Given the description of an element on the screen output the (x, y) to click on. 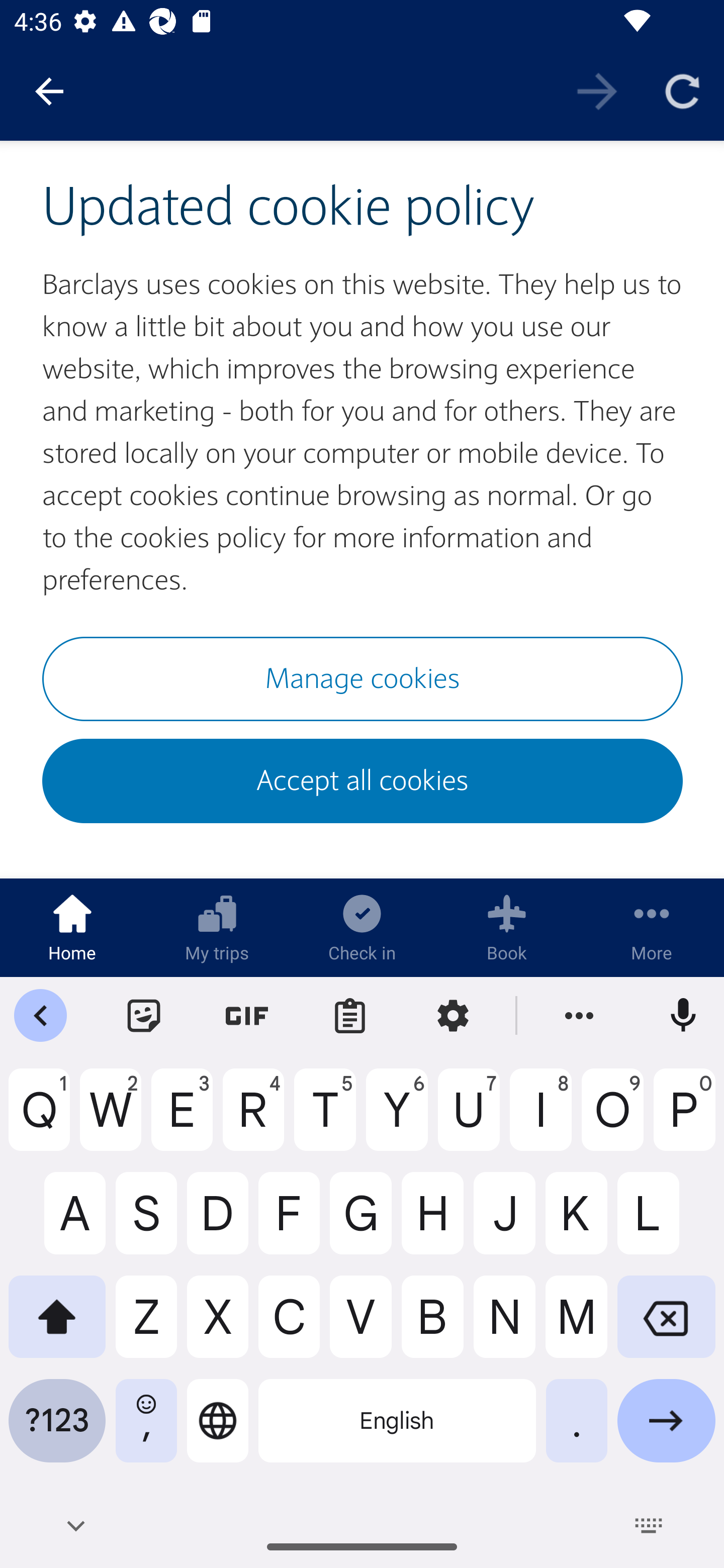
Navigate up (49, 91)
Forward (597, 90)
Reload (681, 90)
Manage cookies (362, 678)
Accept all cookies (362, 781)
My trips (216, 927)
Check in (361, 927)
Book (506, 927)
More (651, 927)
